Given the description of an element on the screen output the (x, y) to click on. 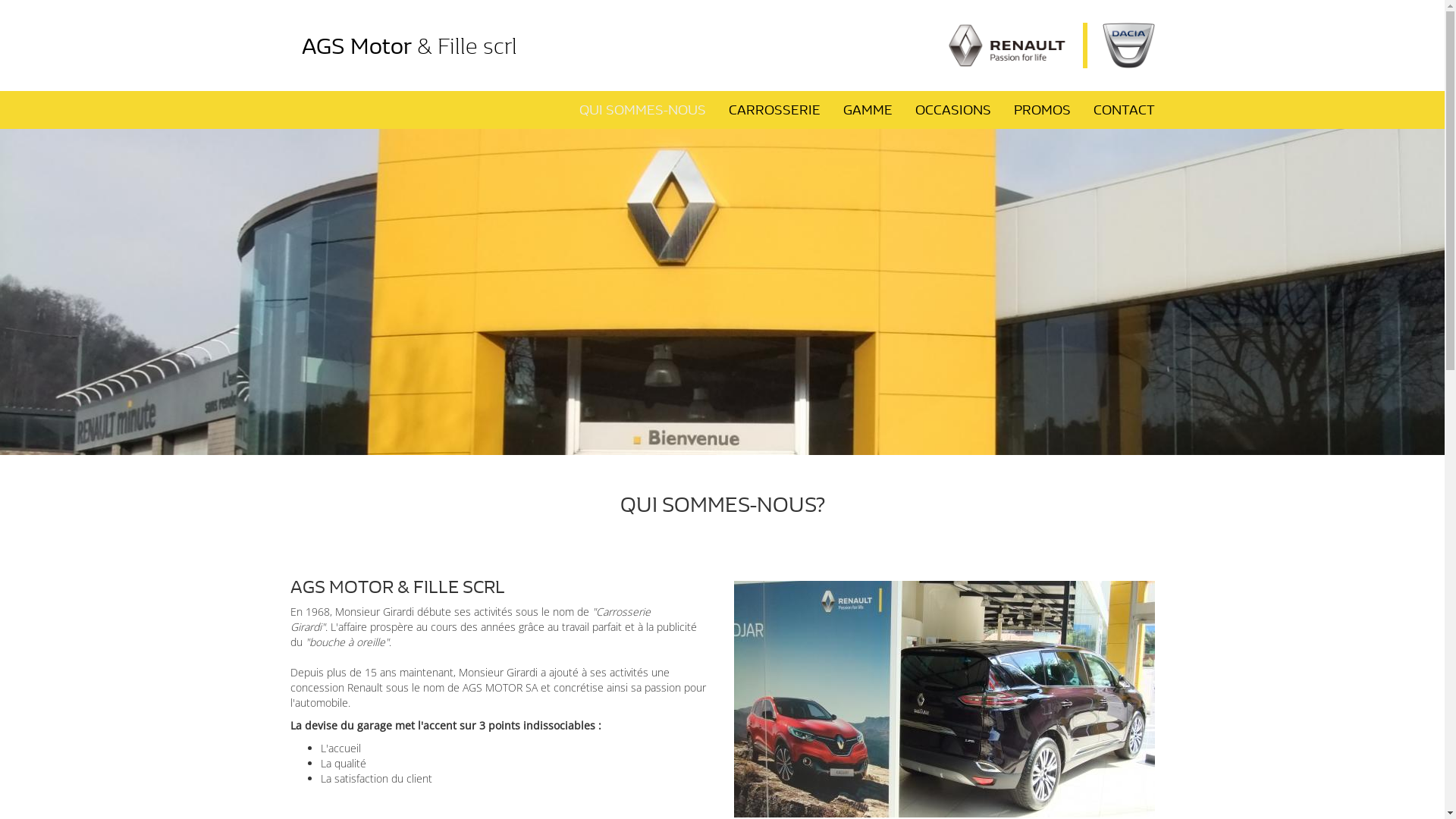
PROMOS Element type: text (1042, 109)
AGS Motor & Fille scrl Element type: text (408, 18)
QUI SOMMES-NOUS Element type: text (641, 109)
GAMME Element type: text (867, 109)
CONTACT Element type: text (1123, 109)
CARROSSERIE Element type: text (774, 109)
OCCASIONS Element type: text (952, 109)
